Given the description of an element on the screen output the (x, y) to click on. 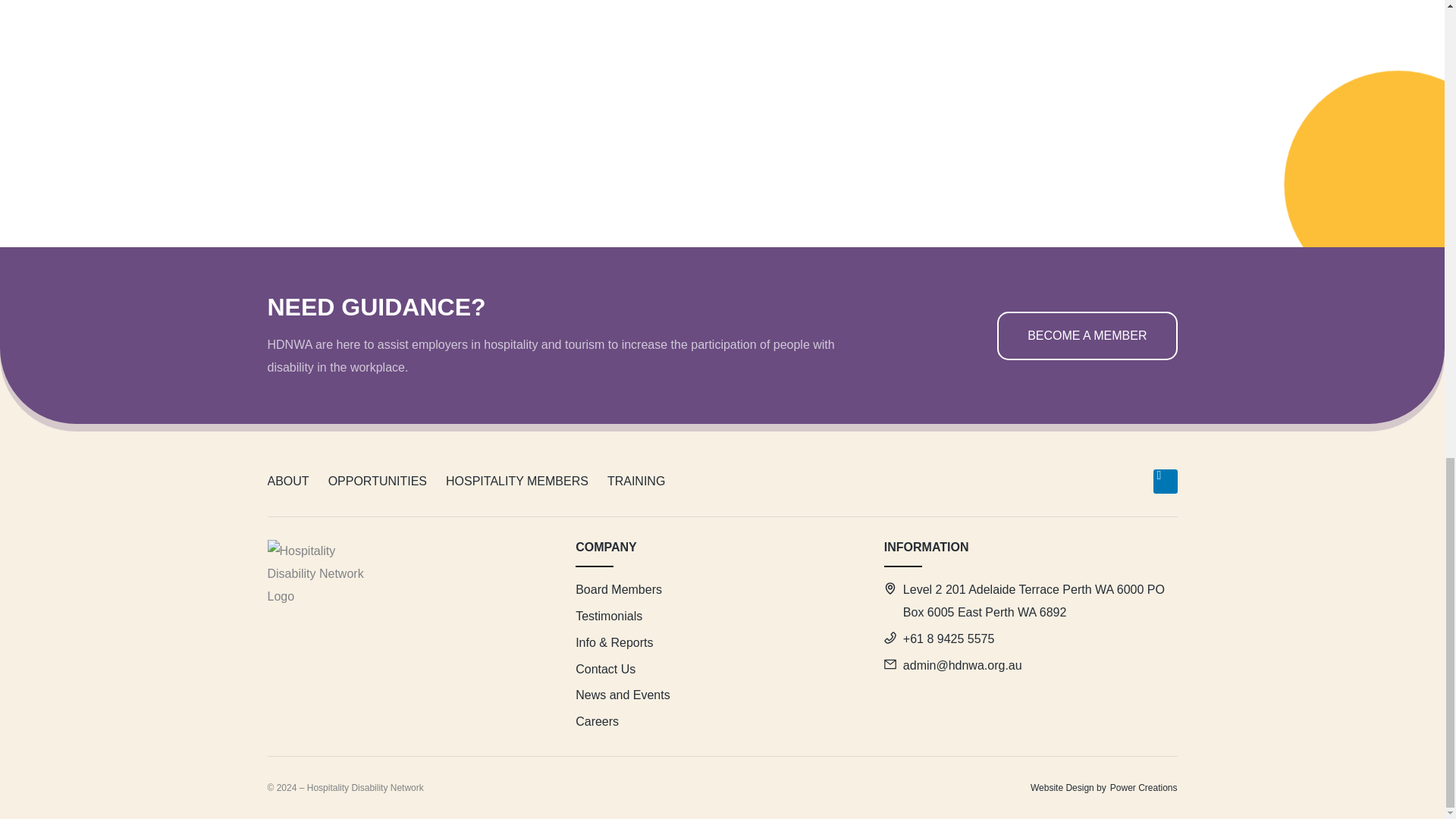
OPPORTUNITIES (377, 481)
ABOUT (287, 481)
HOSPITALITY MEMBERS (516, 481)
BECOME A MEMBER (1086, 336)
